Given the description of an element on the screen output the (x, y) to click on. 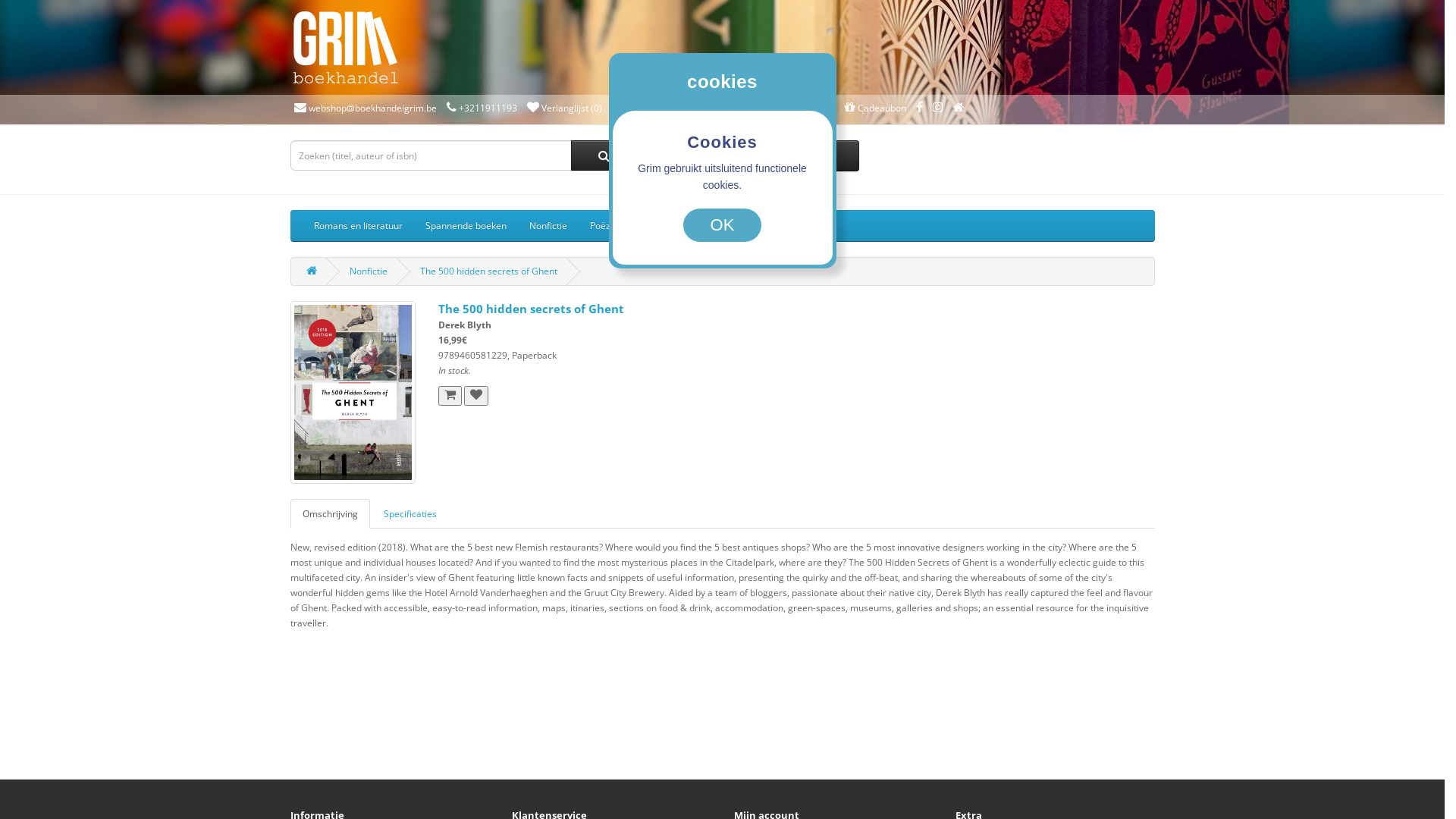
Nonfictie Element type: text (547, 225)
Omschrijving Element type: text (329, 513)
Nonfictie Element type: text (367, 270)
Terug naar van voor Element type: hover (957, 107)
Romans en literatuur Element type: text (357, 225)
Winkelwagen Element type: text (645, 107)
Afrekenen Element type: text (720, 107)
Grim Element type: hover (343, 47)
Cadeaubon Element type: text (875, 107)
Mijn Account Element type: text (796, 107)
Kinderboeken Element type: text (669, 225)
webshop@boekhandelgrim.be Element type: text (365, 107)
Spannende boeken Element type: text (465, 225)
Koken Element type: text (733, 225)
Graphic Novels Element type: text (801, 225)
The 500 hidden secrets of Ghent Element type: hover (351, 392)
Specificaties Element type: text (409, 513)
Verlanglijst (0) Element type: text (563, 107)
The 500 hidden secrets of Ghent Element type: text (488, 270)
OK Element type: text (722, 224)
The 500 hidden secrets of Ghent Element type: hover (352, 392)
